Given the description of an element on the screen output the (x, y) to click on. 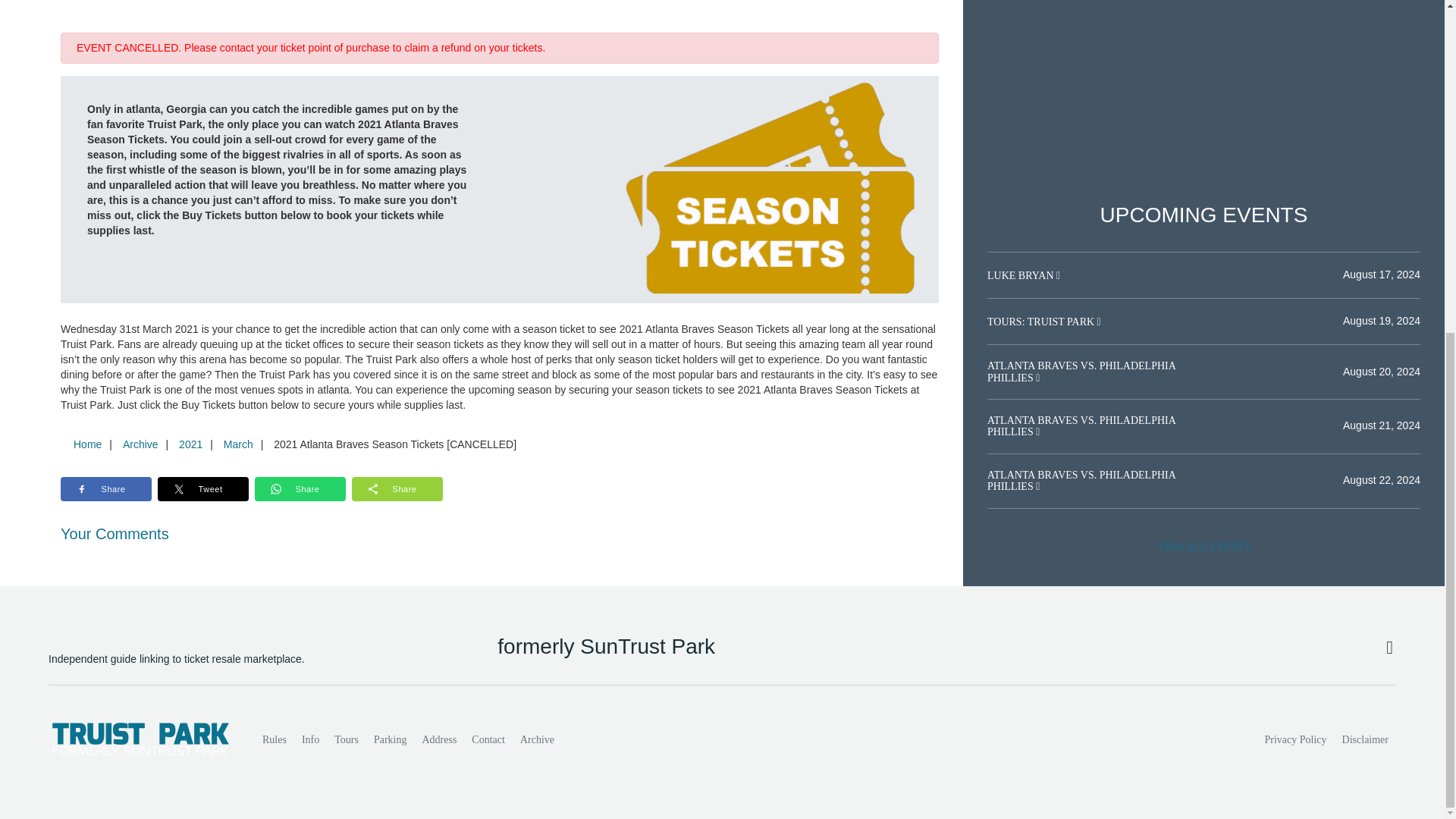
2021 (190, 444)
VIEW ALL EVENTS (1203, 547)
Rules (274, 739)
Home (87, 444)
Parking (390, 739)
Tours (346, 739)
Archive (140, 444)
Advertisement (1204, 100)
Disclaimer (1365, 739)
March (237, 444)
